Given the description of an element on the screen output the (x, y) to click on. 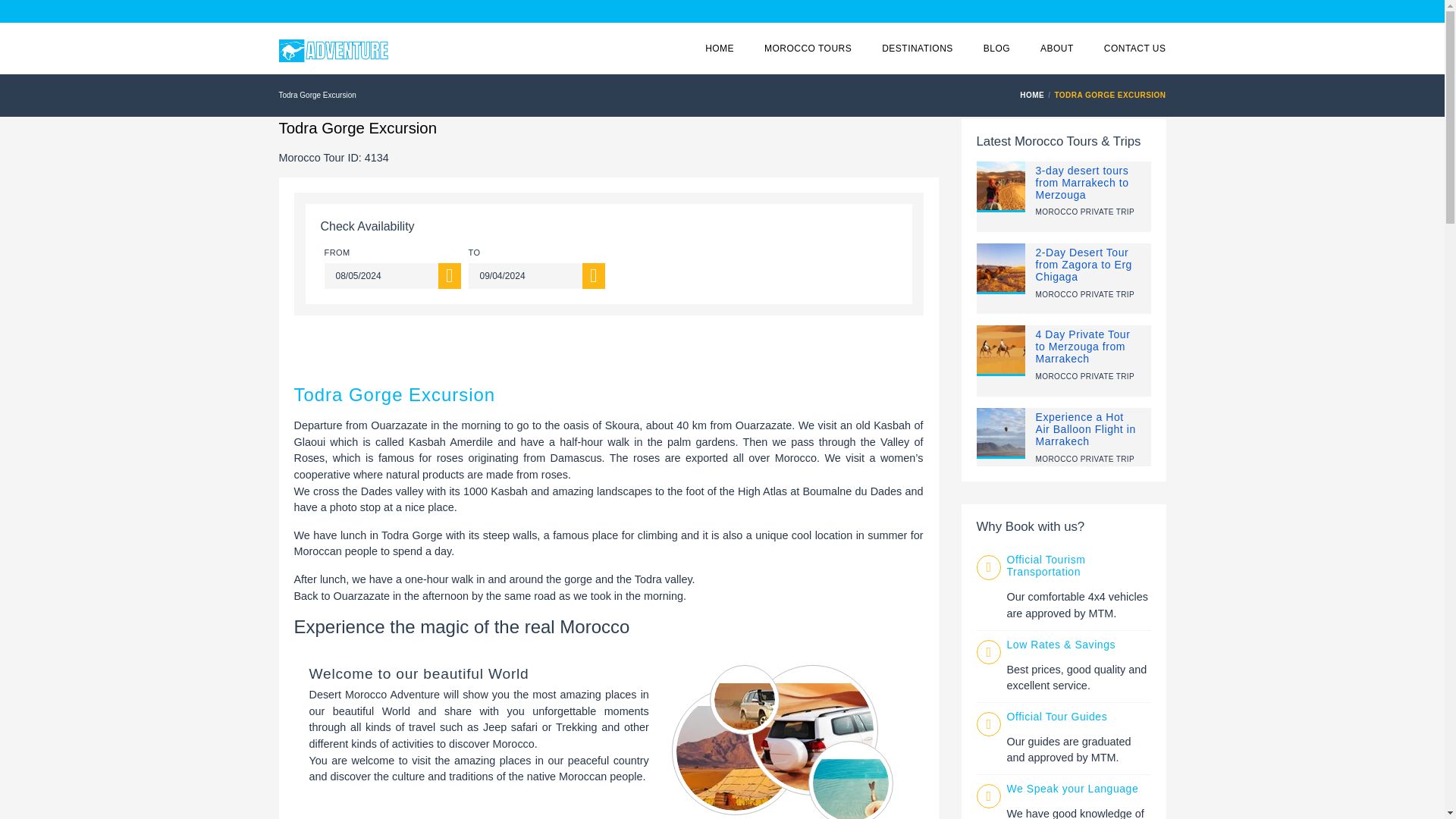
HOME (1034, 94)
Contact Our Team (1134, 48)
Find your Morocco Tour (807, 48)
2-Day Desert Tour from Zagora to Erg Chigaga (1083, 264)
4 Day Private Tour to Merzouga from Marrakech (1083, 346)
Things to do (917, 48)
3-day desert tours from Marrakech to Merzouga (1082, 182)
Experience a Hot Air Balloon Flight in Marrakech (1085, 429)
Home (1034, 94)
DESTINATIONS (917, 48)
MOROCCO TOURS (807, 48)
CONTACT US (1134, 48)
